Given the description of an element on the screen output the (x, y) to click on. 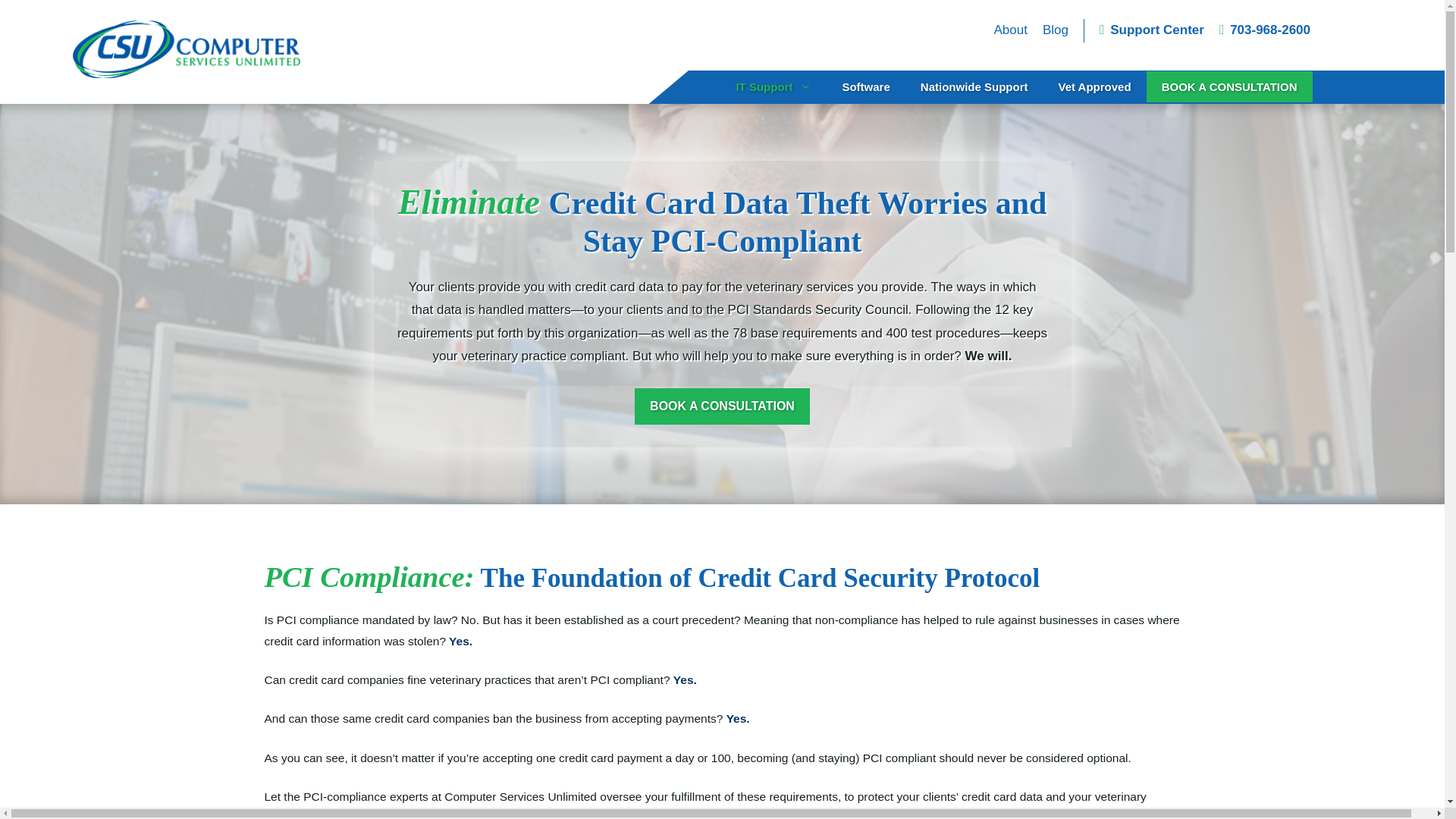
BOOK A CONSULTATION (1230, 86)
Nationwide Support (974, 87)
Software (865, 87)
703-968-2600 (1265, 29)
IT Support (773, 87)
About (1009, 29)
BOOK A CONSULTATION (721, 406)
Vet Approved (1093, 87)
Blog (1055, 29)
Support Center (1151, 29)
